Given the description of an element on the screen output the (x, y) to click on. 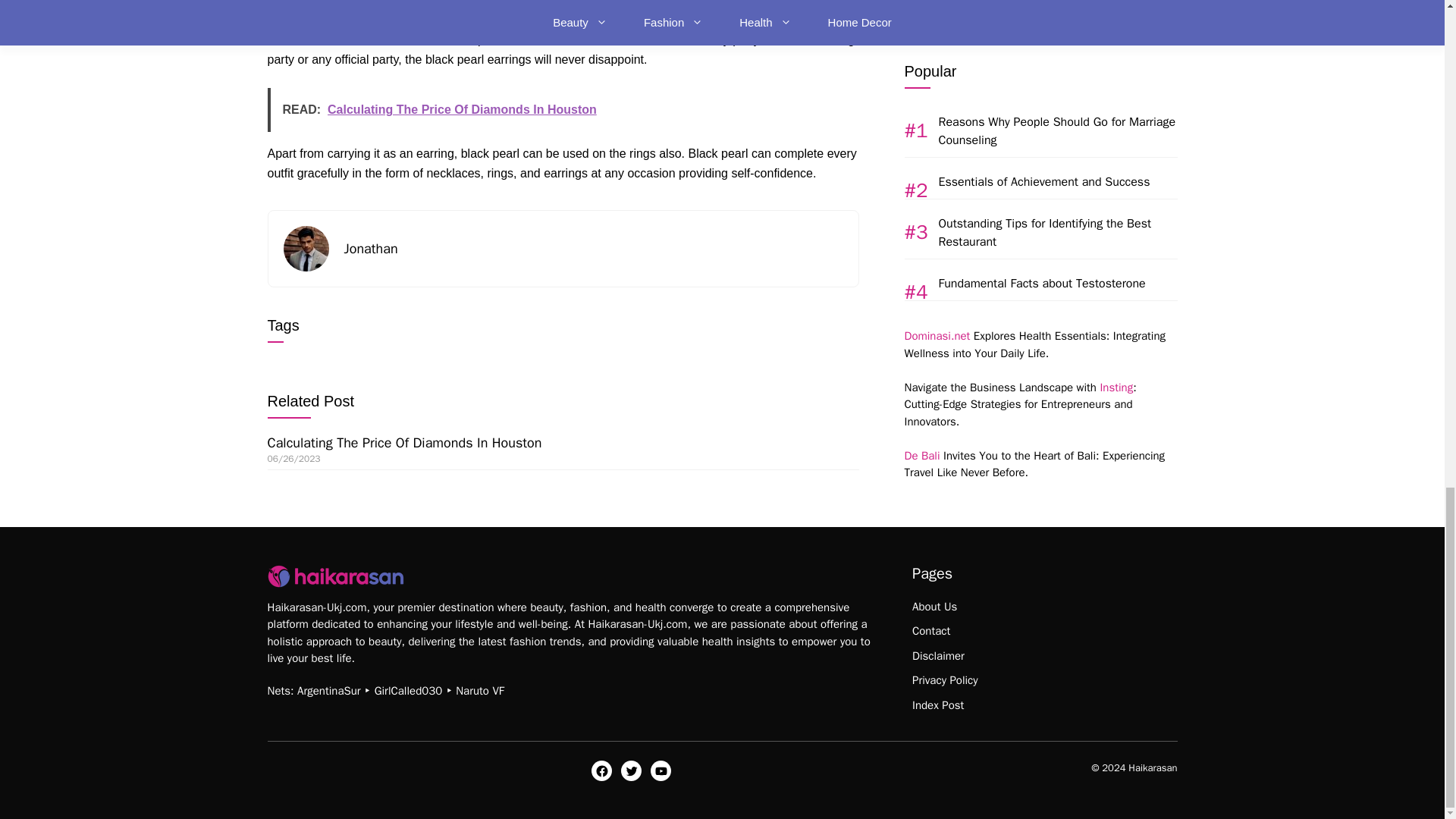
Calculating The Price Of Diamonds In Houston (403, 442)
READ:  Calculating The Price Of Diamonds In Houston (562, 109)
HaikaraSanft (334, 576)
Jonathan (370, 248)
